Given the description of an element on the screen output the (x, y) to click on. 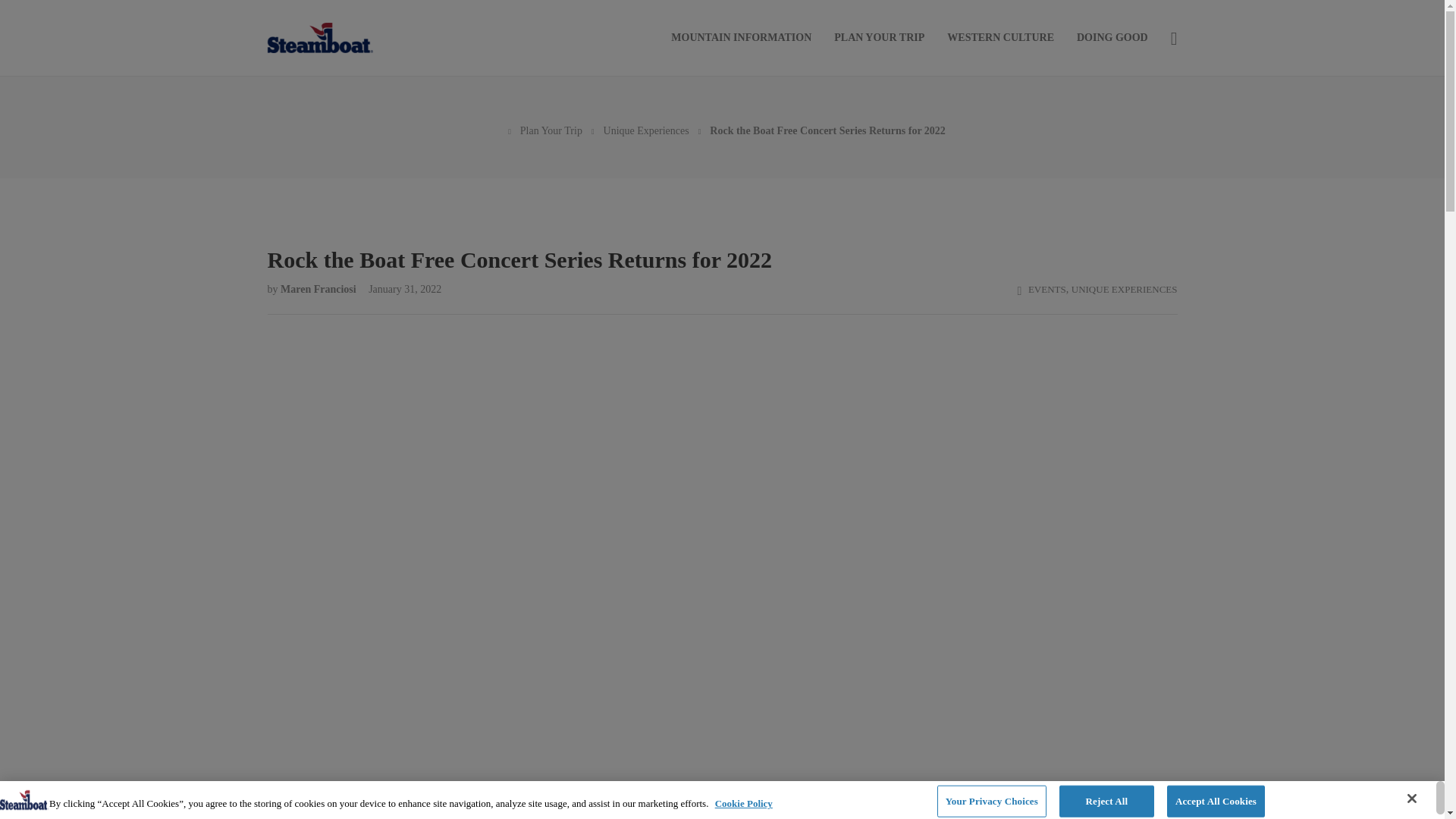
Rock the Boat Free Concert Series Returns for 2022 (827, 130)
WESTERN CULTURE (1000, 38)
Company Logo (24, 797)
January 31, 2022 (399, 288)
Rock the Boat Free Concert Series Returns for 2022 (721, 253)
Maren Franciosi (319, 288)
UNIQUE EXPERIENCES (1124, 288)
DOING GOOD (1112, 38)
PLAN YOUR TRIP (879, 38)
MOUNTAIN INFORMATION (740, 38)
Plan Your Trip (550, 130)
EVENTS (1046, 288)
Unique Experiences (646, 130)
